Given the description of an element on the screen output the (x, y) to click on. 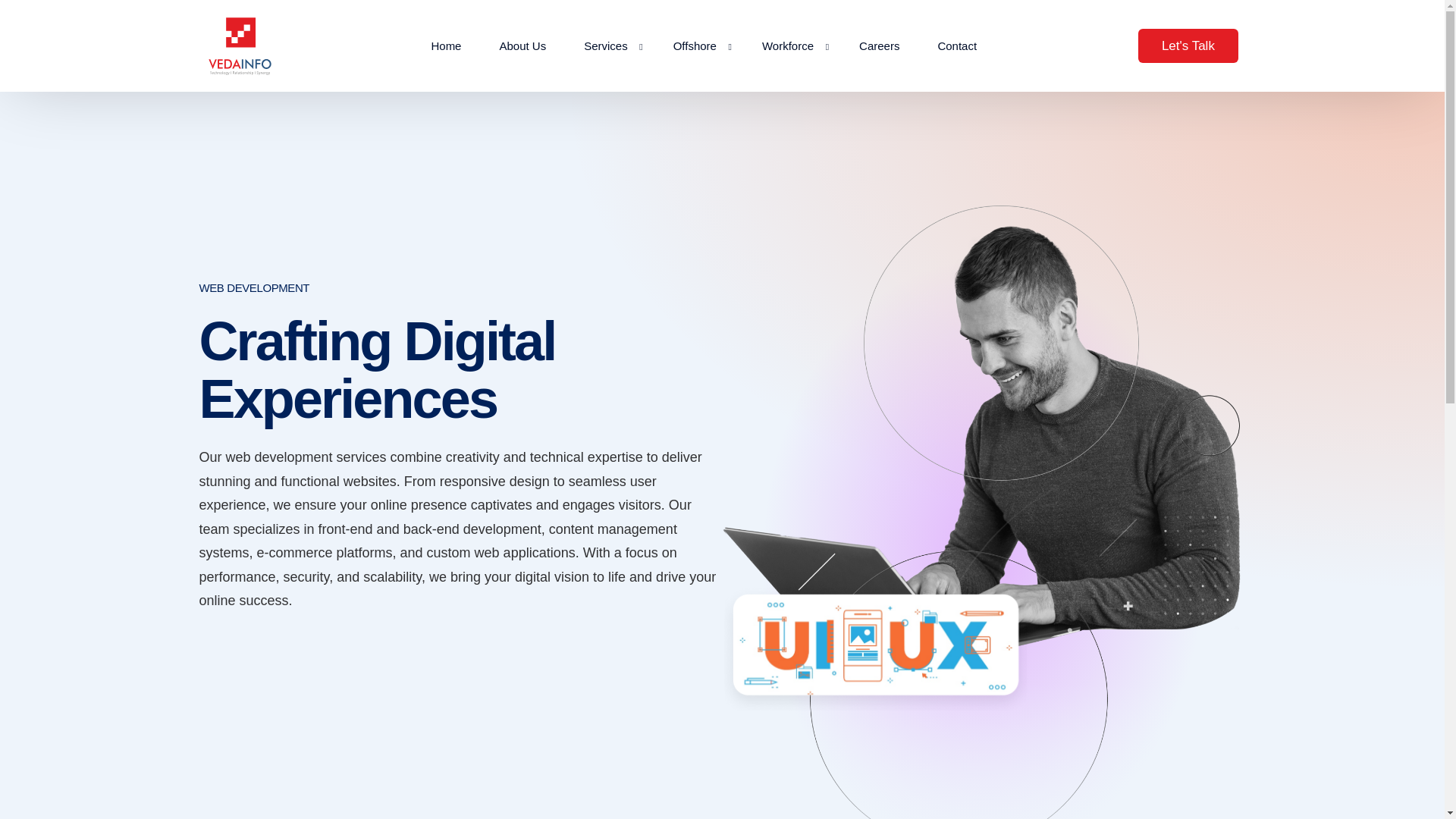
Offshore (697, 45)
Workforce (791, 45)
About Us (522, 45)
Services (608, 65)
Let's Talk (1187, 45)
